Given the description of an element on the screen output the (x, y) to click on. 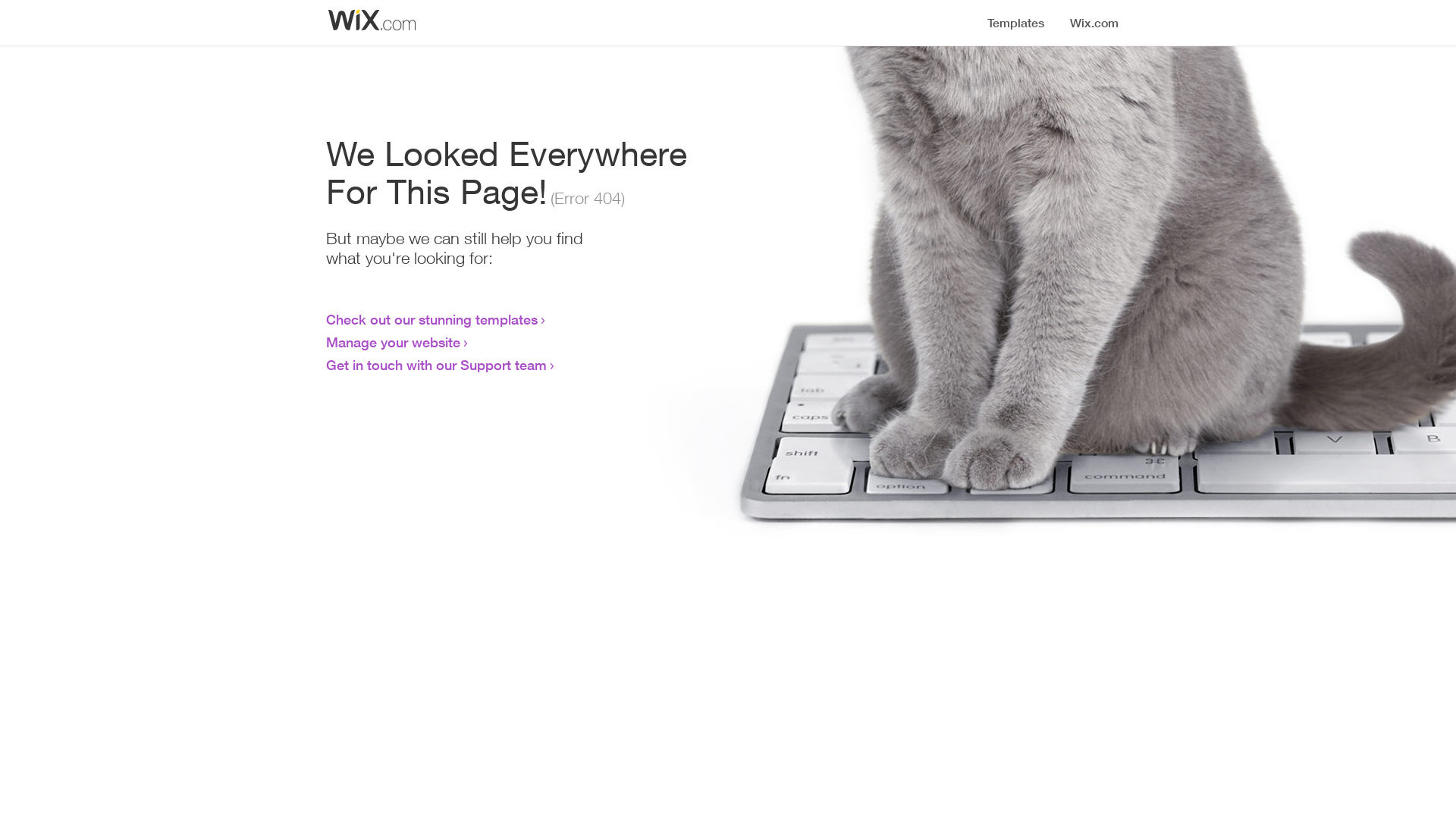
Check out our stunning templates Element type: text (431, 318)
Manage your website Element type: text (393, 341)
Get in touch with our Support team Element type: text (436, 364)
